Given the description of an element on the screen output the (x, y) to click on. 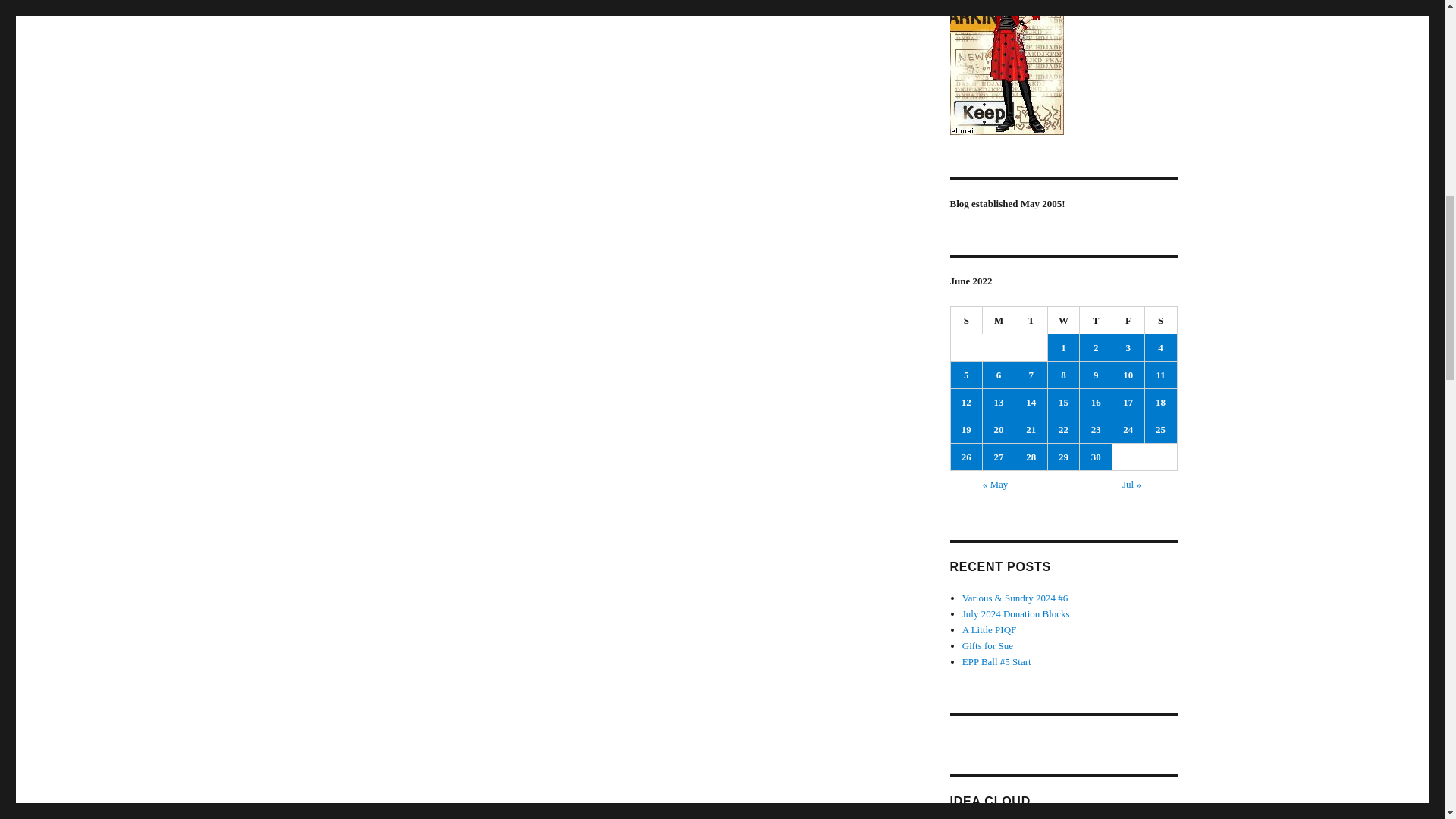
Saturday (1160, 320)
Sunday (967, 320)
Jaye, Artquiltmaker.com (1062, 67)
Thursday (1096, 320)
Monday (998, 320)
Wednesday (1064, 320)
Tuesday (1031, 320)
Friday (1128, 320)
